Given the description of an element on the screen output the (x, y) to click on. 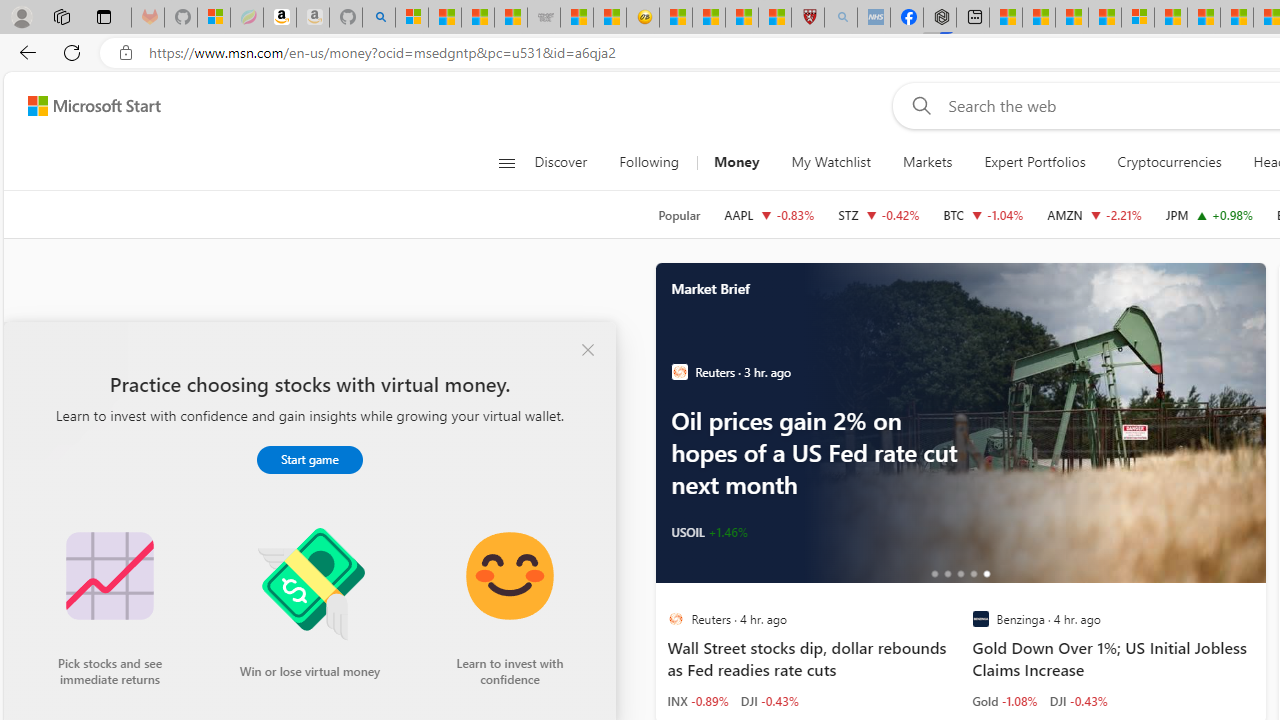
Benzinga (980, 619)
Reuters (674, 619)
Expert Portfolios (1034, 162)
AAPL APPLE INC. decrease 224.53 -1.87 -0.83% (768, 214)
Robert H. Shmerling, MD - Harvard Health (808, 17)
Start game (310, 459)
Microsoft-Report a Concern to Bing (214, 17)
Discover (560, 162)
New tab (973, 17)
Popular (679, 215)
Personal Profile (21, 16)
Science - MSN (741, 17)
